Given the description of an element on the screen output the (x, y) to click on. 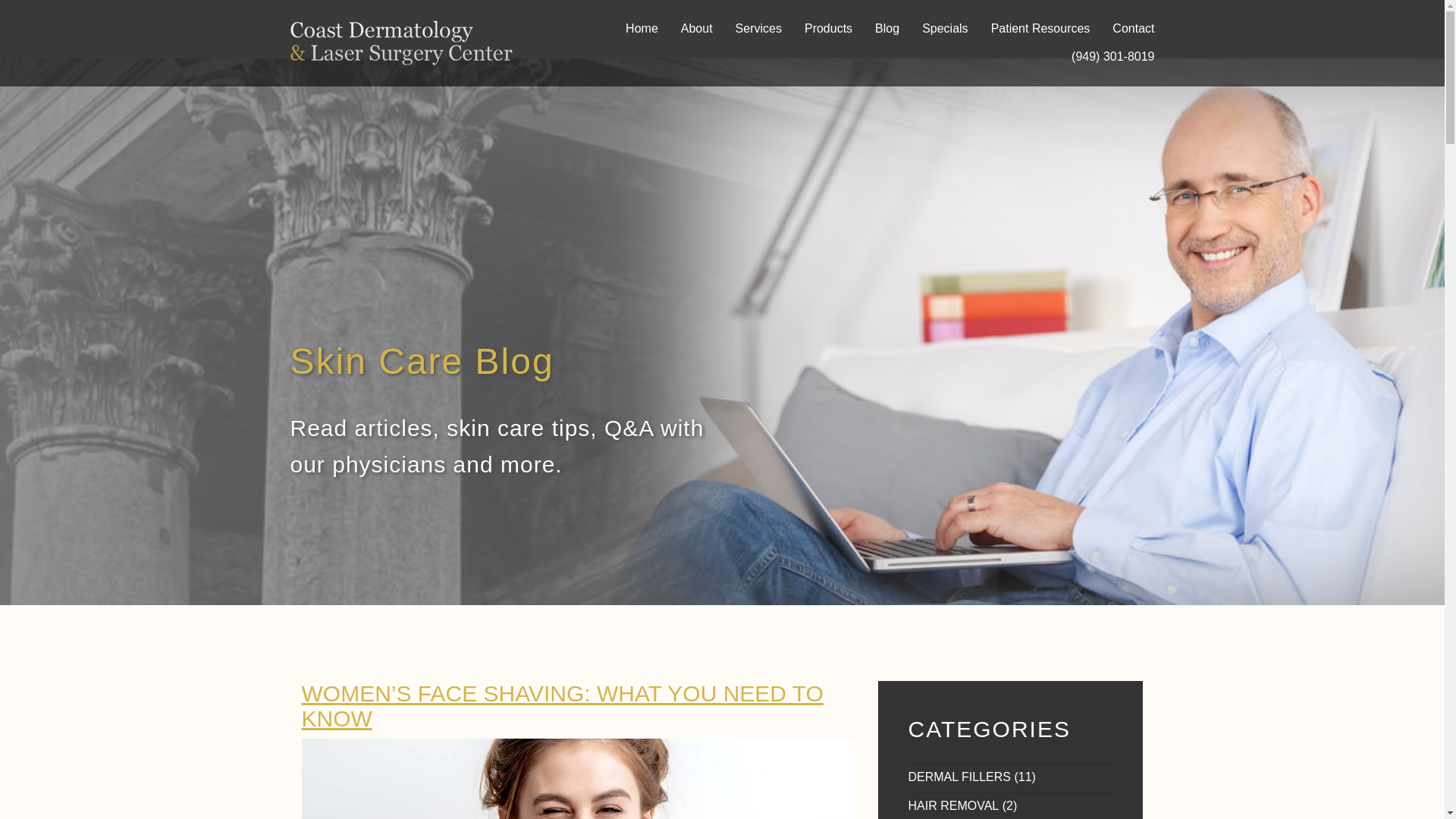
Blog (887, 28)
Contact (1133, 28)
About (697, 28)
Specials (944, 28)
HAIR REMOVAL (953, 805)
Home (642, 28)
DERMAL FILLERS (959, 776)
Products (828, 28)
Services (758, 28)
Patient Resources (1040, 28)
